Given the description of an element on the screen output the (x, y) to click on. 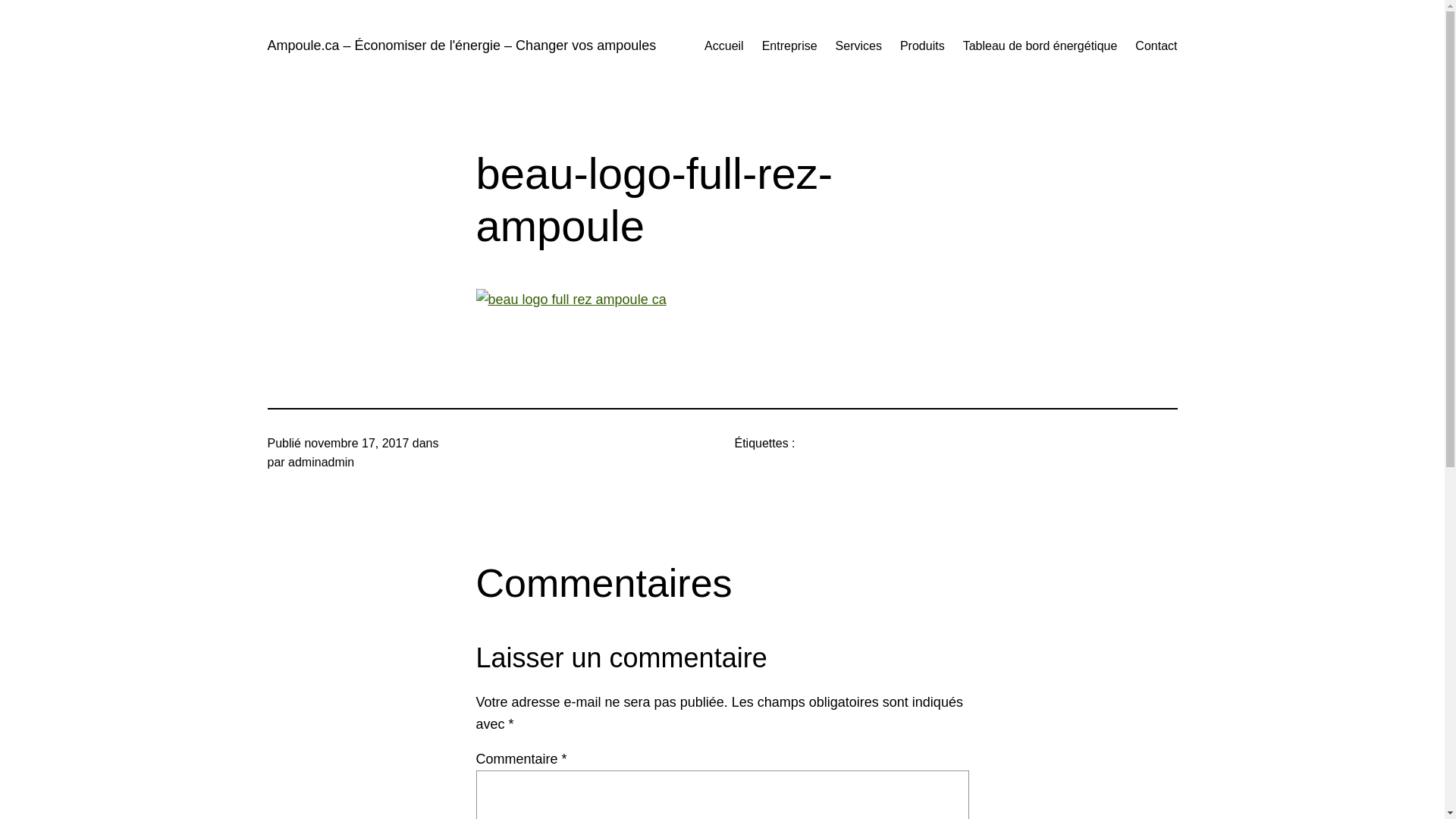
Entreprise Element type: text (789, 46)
Produits Element type: text (922, 46)
Services Element type: text (858, 46)
Accueil Element type: text (723, 46)
Contact Element type: text (1155, 46)
